Given the description of an element on the screen output the (x, y) to click on. 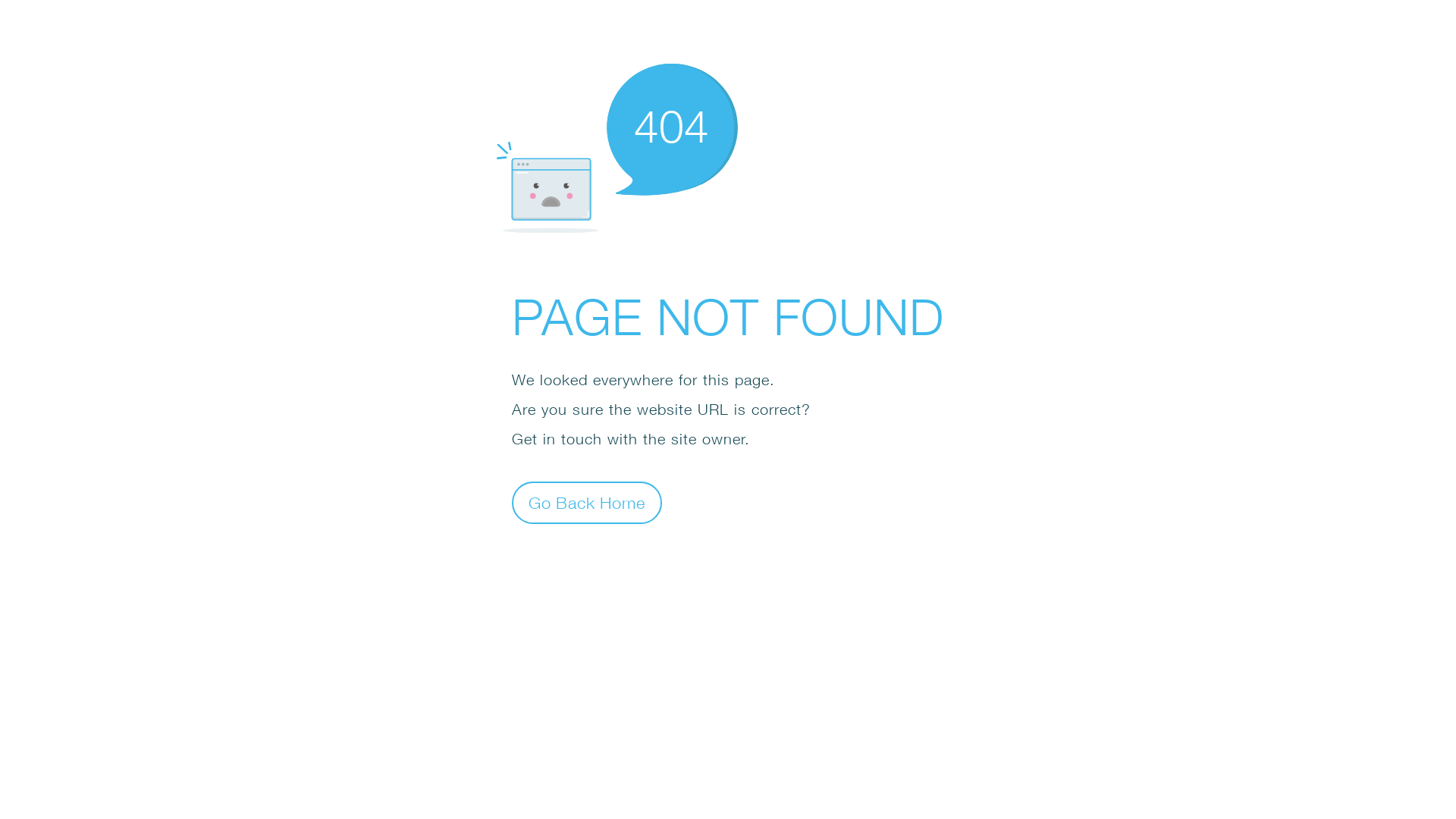
Go Back Home Element type: text (586, 502)
